Given the description of an element on the screen output the (x, y) to click on. 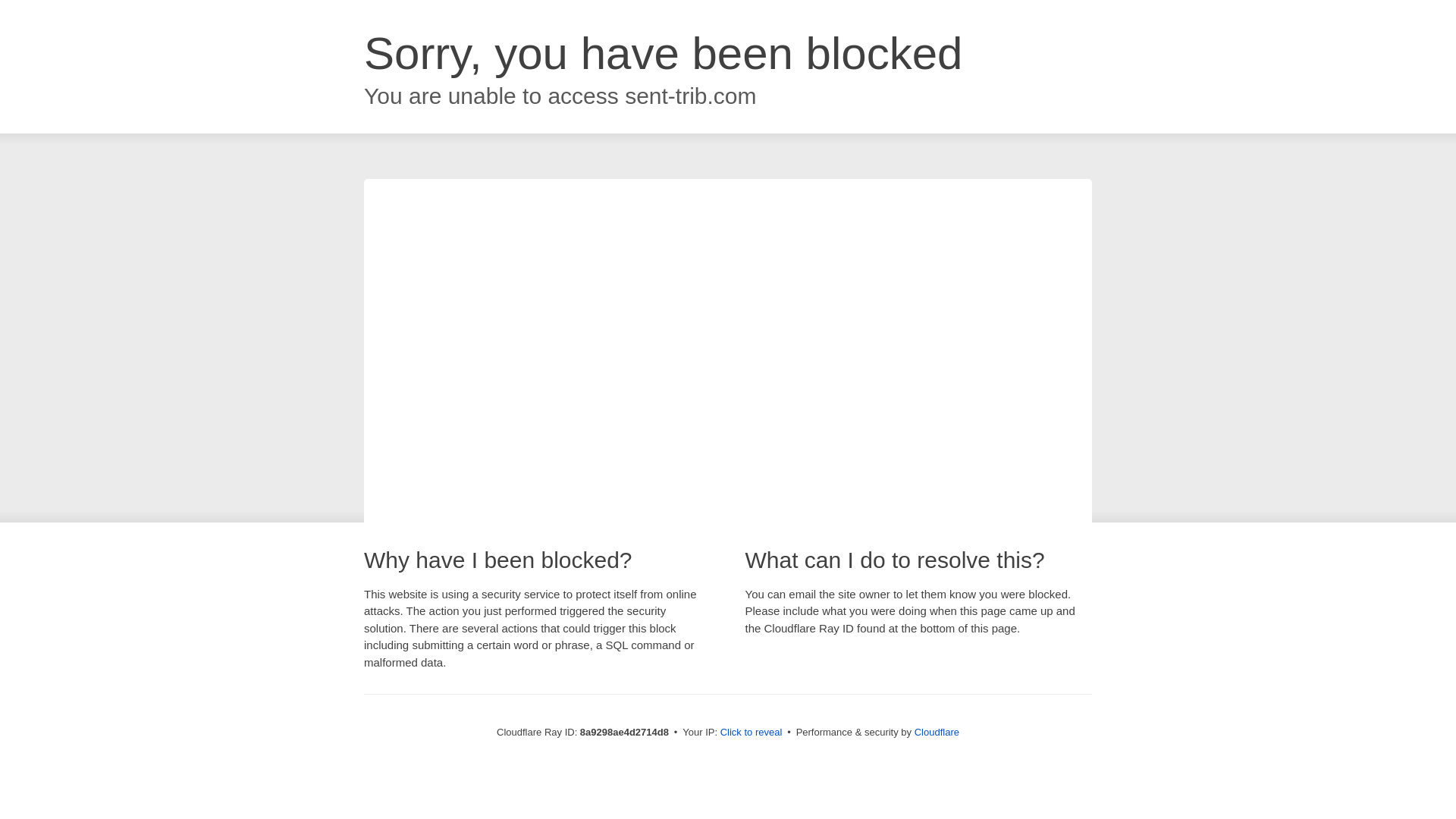
Cloudflare (936, 731)
Click to reveal (751, 732)
